Given the description of an element on the screen output the (x, y) to click on. 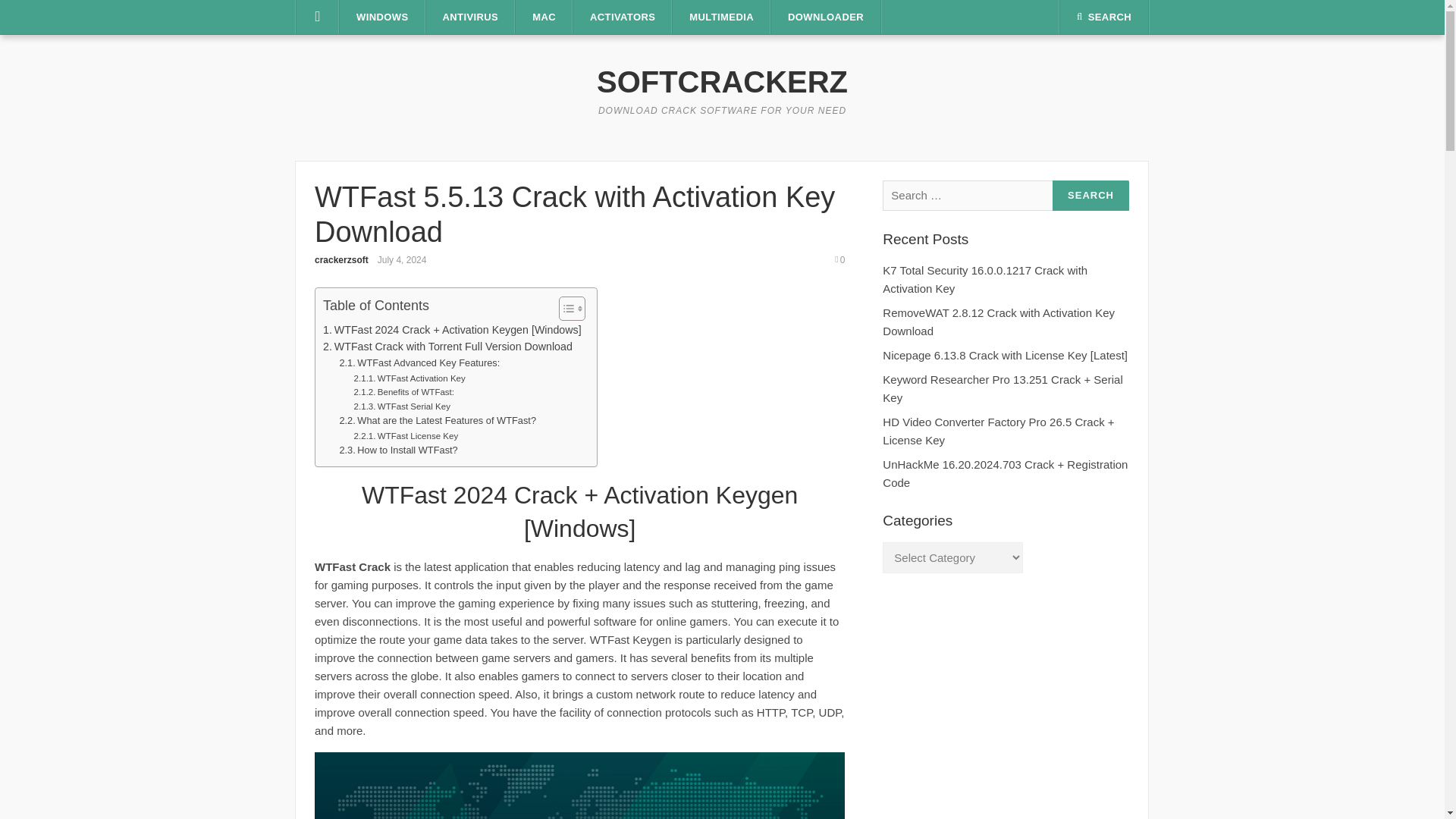
Benefits of WTFast: (403, 391)
WTFast Serial Key (401, 406)
Search (1090, 195)
How to Install WTFast? (398, 450)
ACTIVATORS (622, 17)
WTFast Advanced Key Features: (419, 363)
DOWNLOADER (825, 17)
WTFast Crack with Torrent Full Version Download (447, 346)
SOFTCRACKERZ (721, 81)
WTFast Crack with Torrent Full Version Download (447, 346)
